Given the description of an element on the screen output the (x, y) to click on. 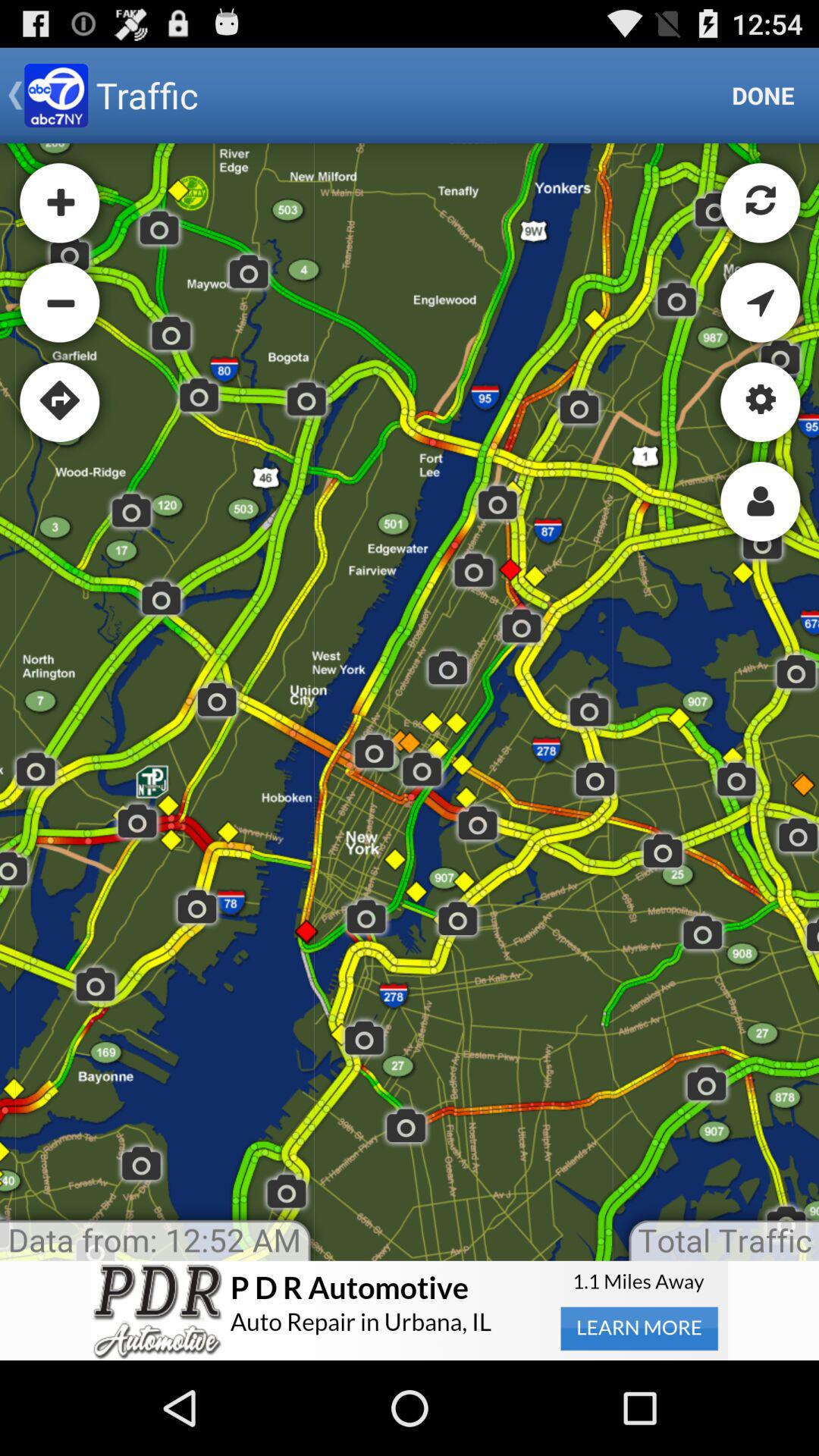
adverdisement (409, 1310)
